Given the description of an element on the screen output the (x, y) to click on. 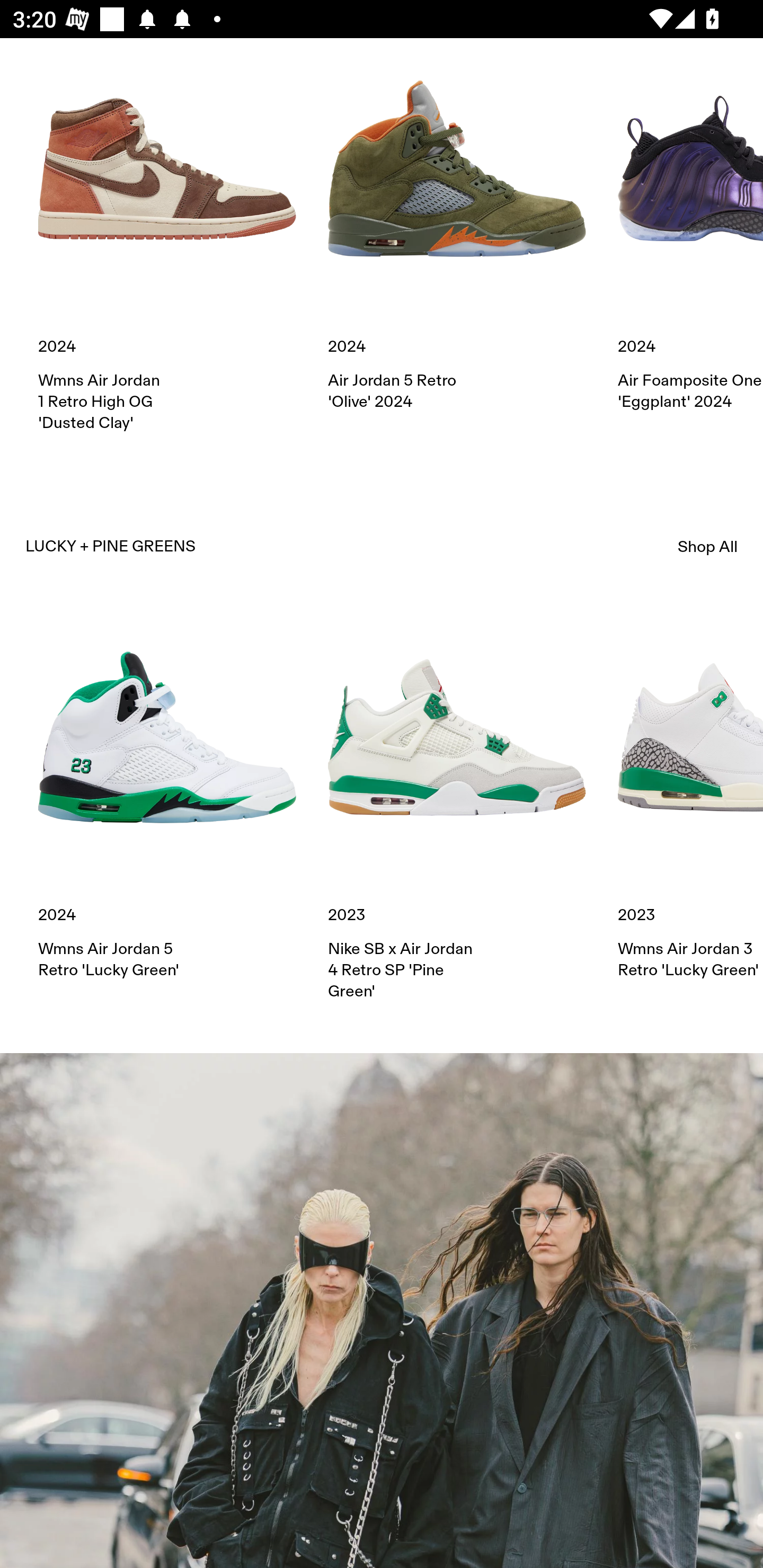
2024 Wmns Air Jordan 1 Retro High OG 'Dusted Clay' (167, 236)
2024 Air Jordan 5 Retro 'Olive' 2024 (456, 225)
2024 Air Foamposite One 'Eggplant' 2024 (690, 225)
Shop All (707, 545)
2024 Wmns Air Jordan 5 Retro 'Lucky Green' (167, 794)
2023 Nike SB x Air Jordan 4 Retro SP 'Pine Green' (456, 804)
2023 Wmns Air Jordan 3 Retro 'Lucky Green' (690, 794)
